Given the description of an element on the screen output the (x, y) to click on. 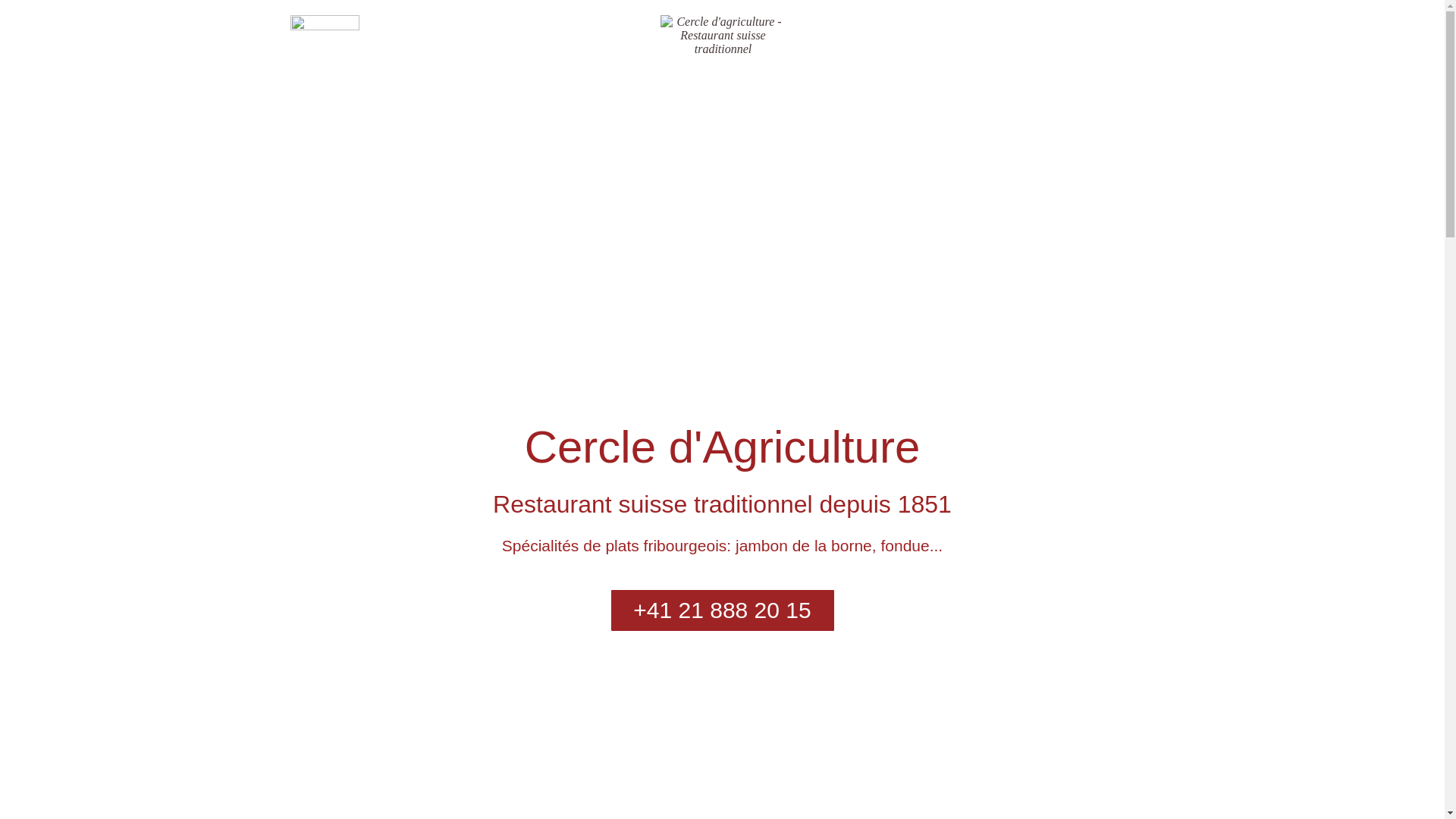
+41 21 888 20 15 Element type: text (722, 610)
